Given the description of an element on the screen output the (x, y) to click on. 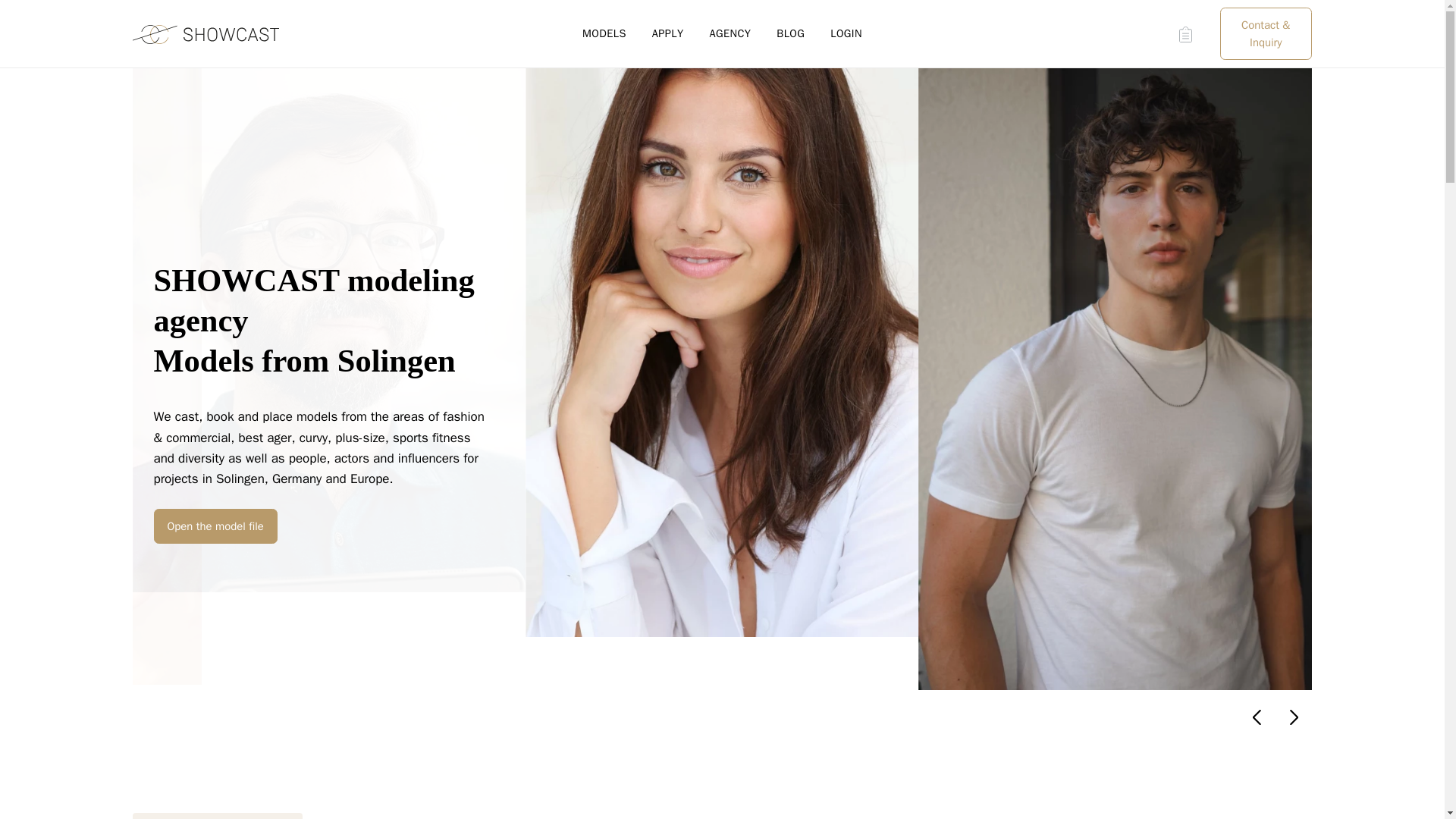
MODELS (604, 33)
Open the model file (214, 525)
prev (1257, 717)
APPLY (668, 33)
Portfolio of models, actors and influencers (604, 33)
LOGIN (845, 33)
Application as a model, actor and influencer (668, 33)
AGENCY (730, 33)
next (1293, 717)
